Given the description of an element on the screen output the (x, y) to click on. 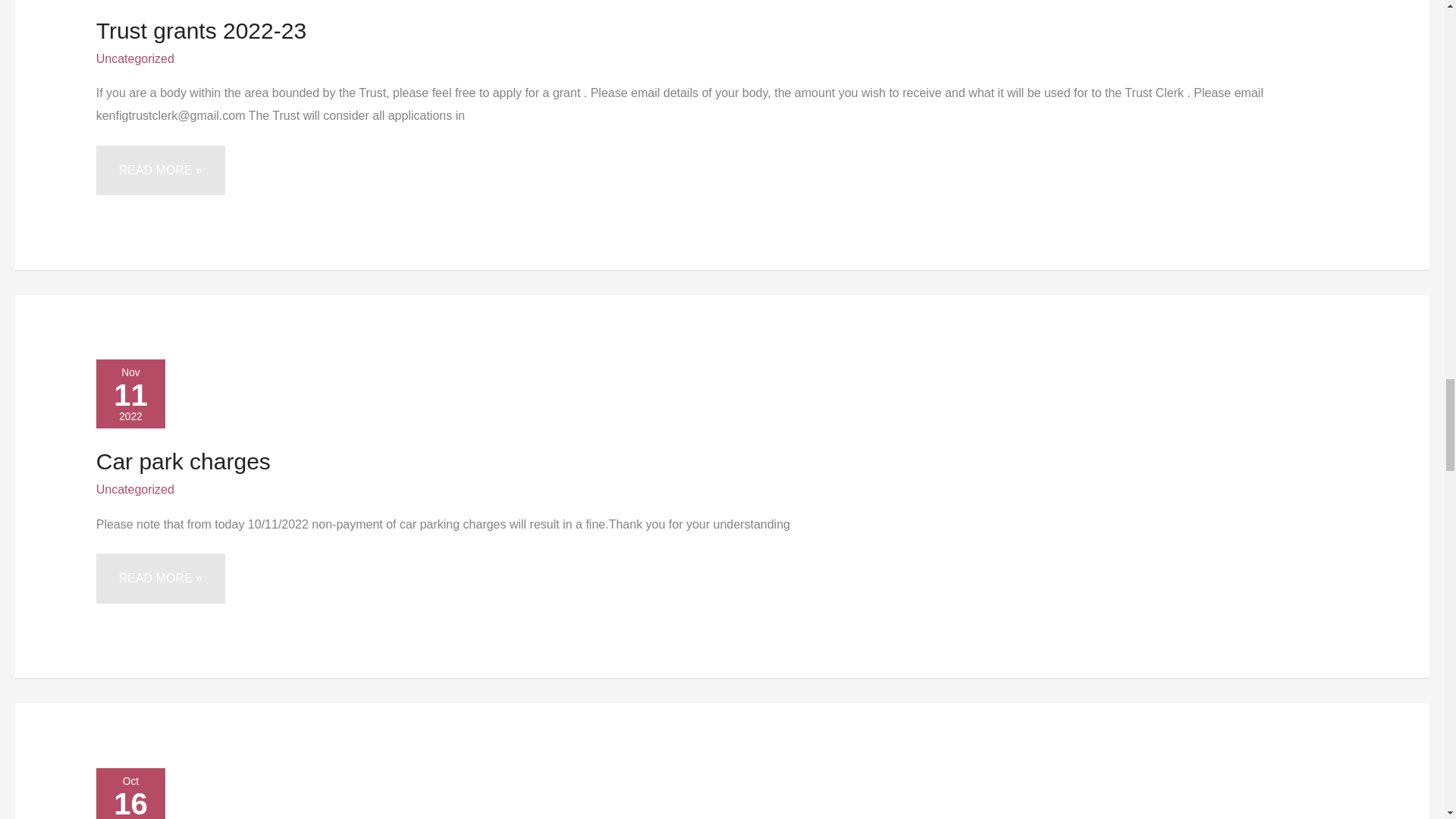
Trust grants 2022-23 (200, 30)
Uncategorized (135, 58)
